Given the description of an element on the screen output the (x, y) to click on. 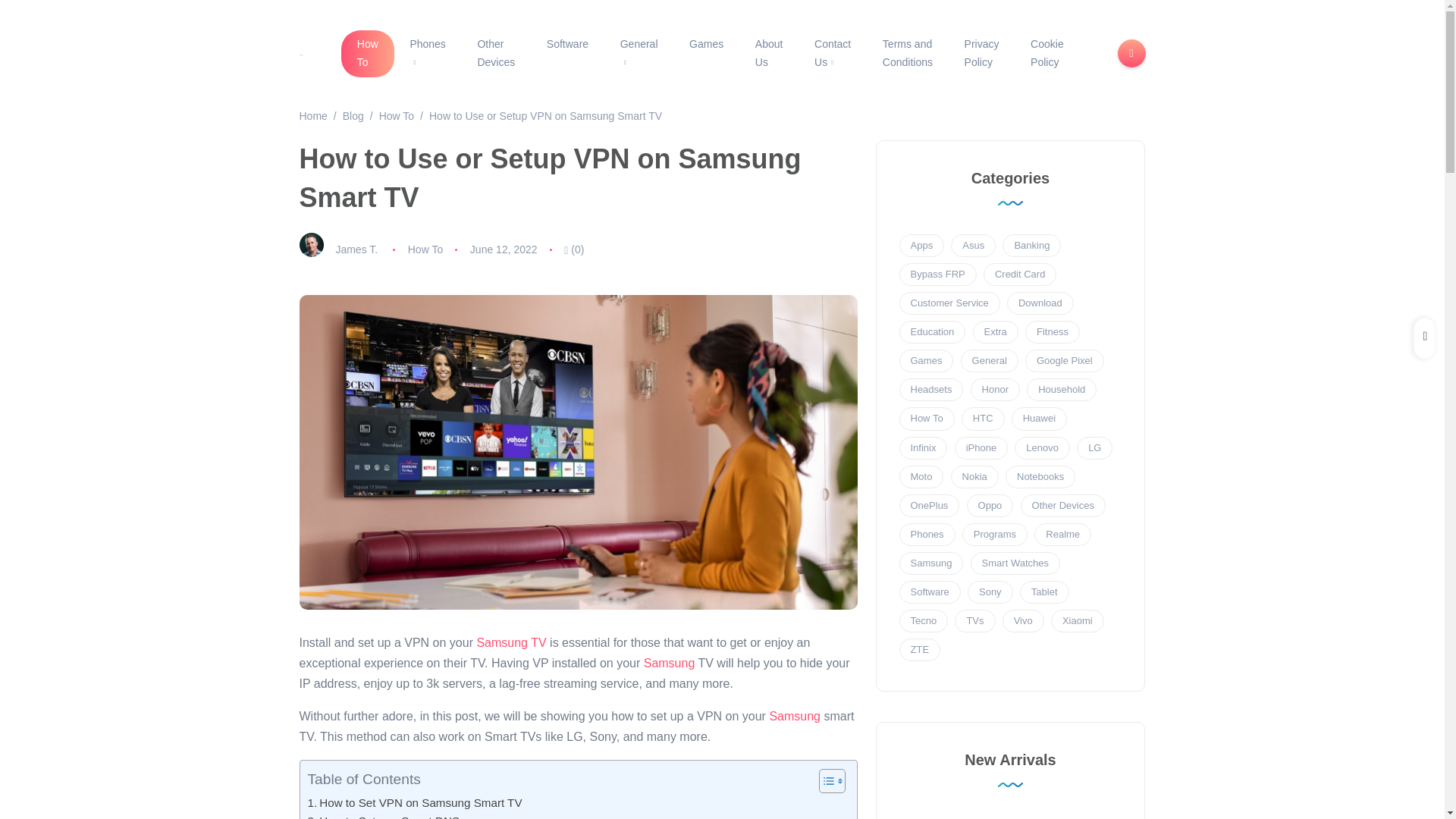
Go to TechyLoud. (312, 115)
Posts by James T. (355, 249)
Go to Blog. (353, 115)
How to Setup a Smart DNS (383, 815)
Go to the How To Category archives. (395, 115)
How to Set VPN on Samsung Smart TV (414, 802)
